Given the description of an element on the screen output the (x, y) to click on. 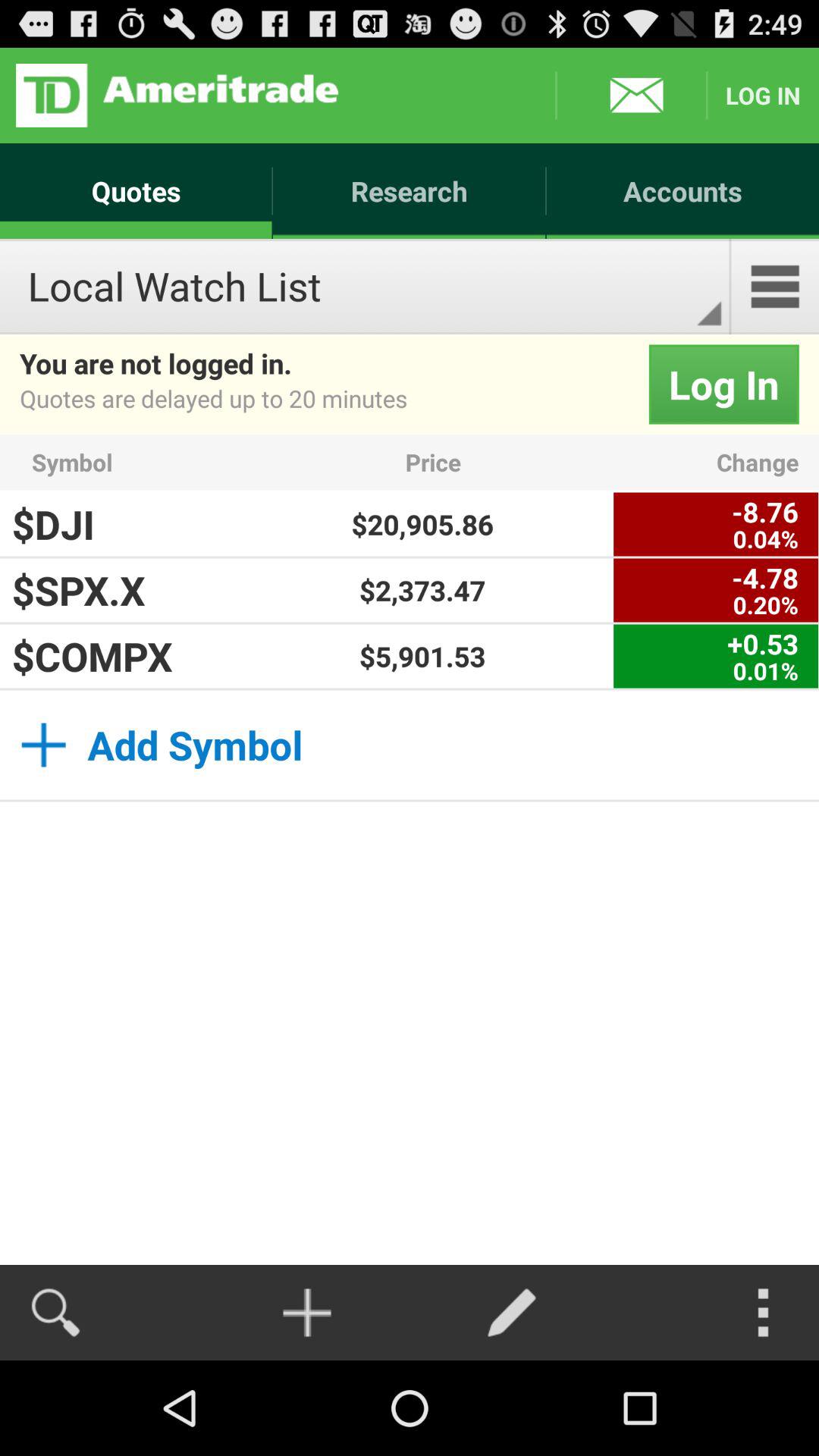
go to home page (176, 95)
